Given the description of an element on the screen output the (x, y) to click on. 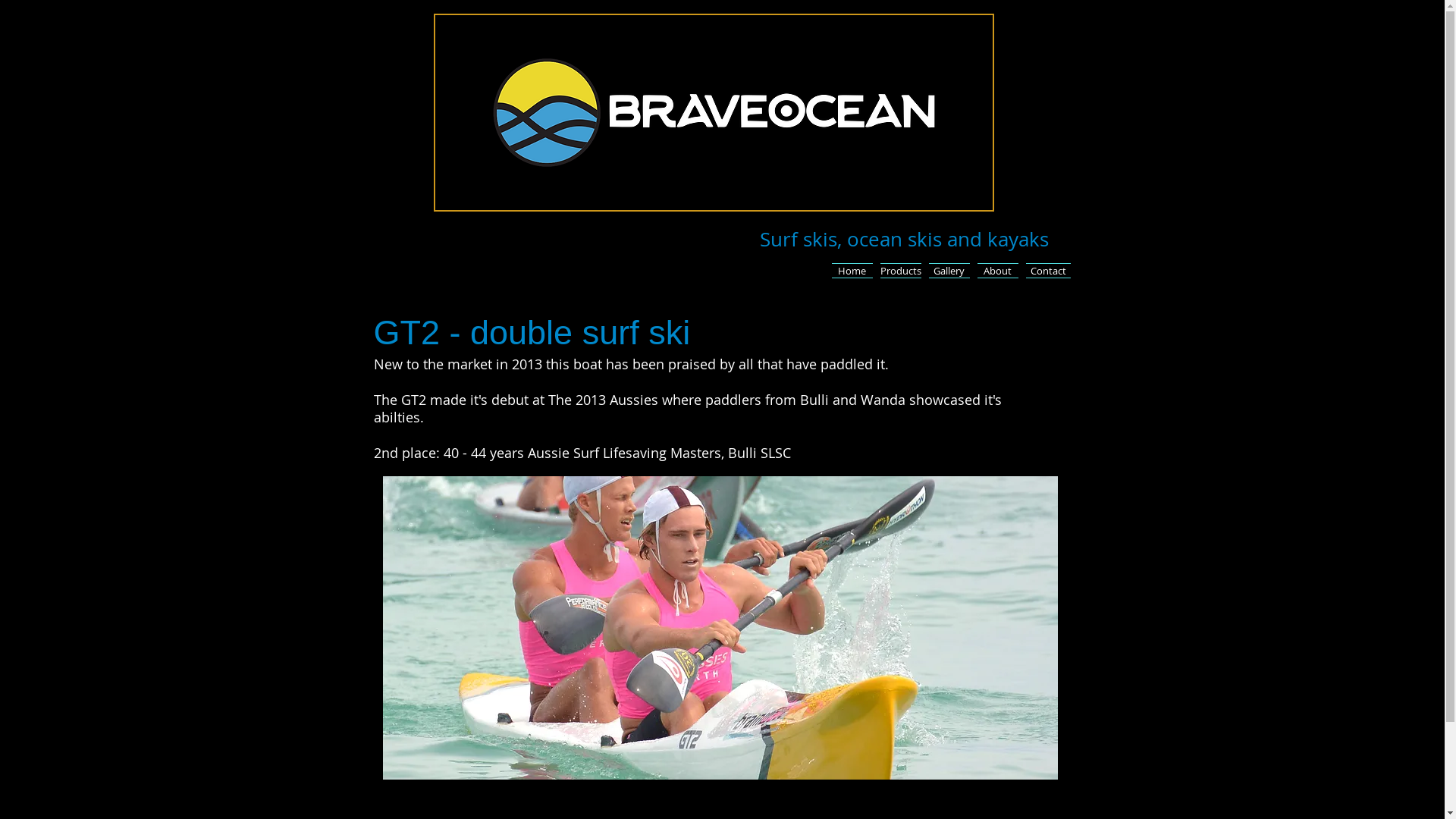
Gallery Element type: text (949, 270)
Contact Element type: text (1046, 270)
About Element type: text (997, 270)
Products Element type: text (900, 270)
Home Element type: text (852, 270)
